Given the description of an element on the screen output the (x, y) to click on. 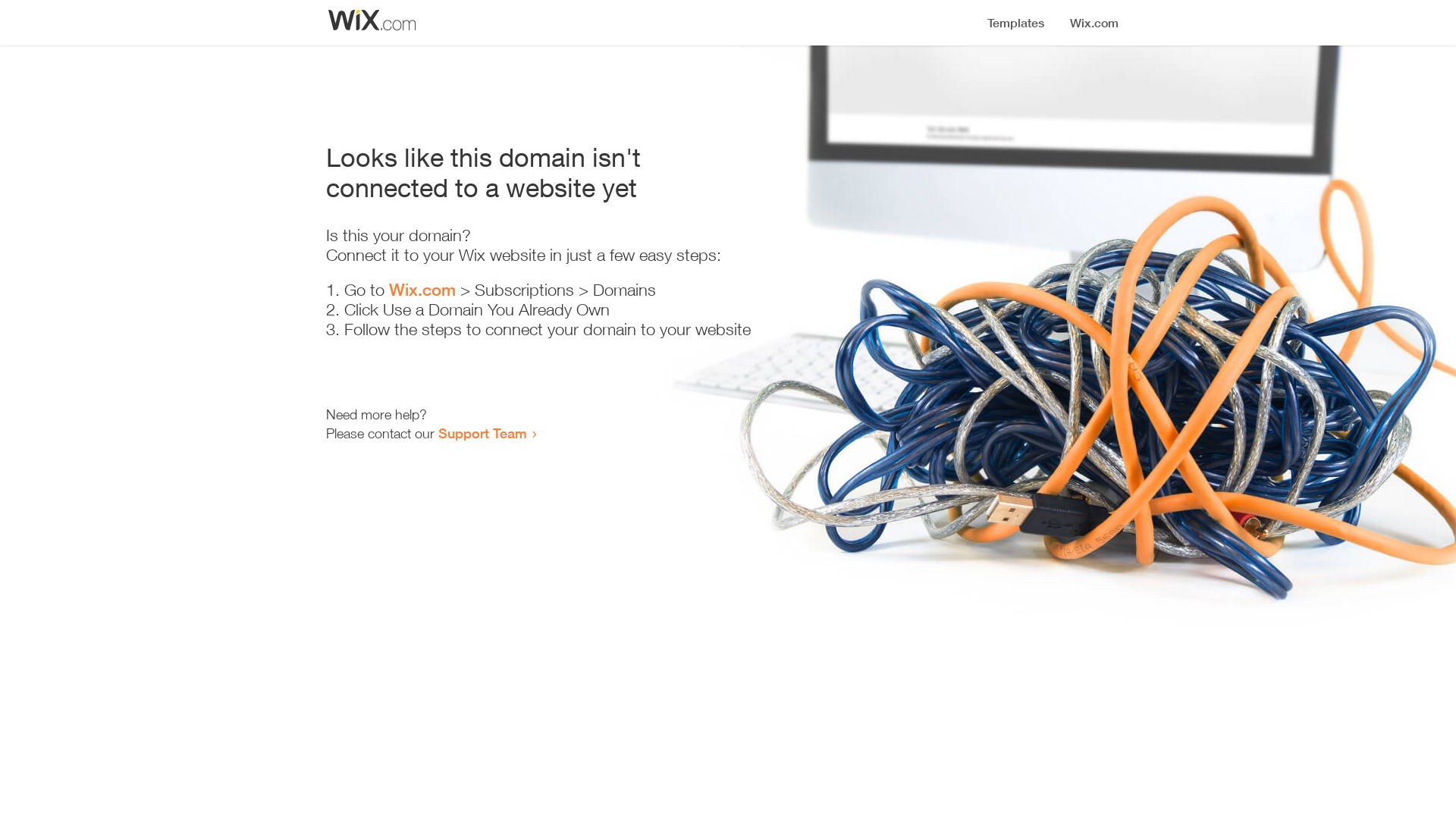
Wix.com Element type: text (422, 289)
Support Team Element type: text (482, 432)
